Given the description of an element on the screen output the (x, y) to click on. 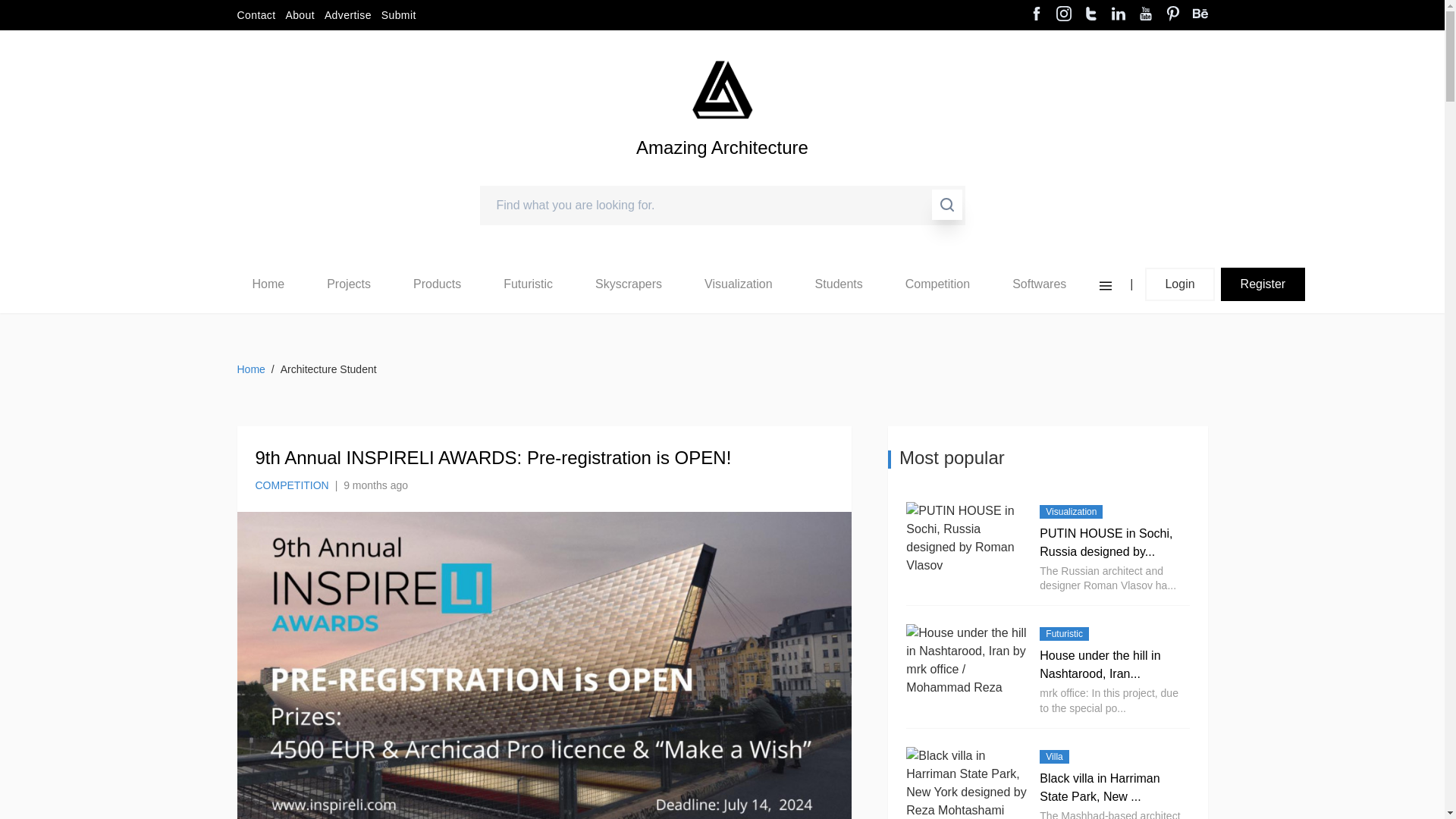
About us page (299, 15)
Advertisement page (347, 15)
Projects (348, 283)
Amazing Architecture (721, 88)
Home (267, 284)
Advertise (347, 15)
Home (267, 283)
Products (437, 283)
Home (267, 283)
Skyscrapers (628, 283)
Contact us page (255, 15)
Contact (255, 15)
Projects (348, 283)
About (299, 15)
Amazing Architecture (722, 173)
